Given the description of an element on the screen output the (x, y) to click on. 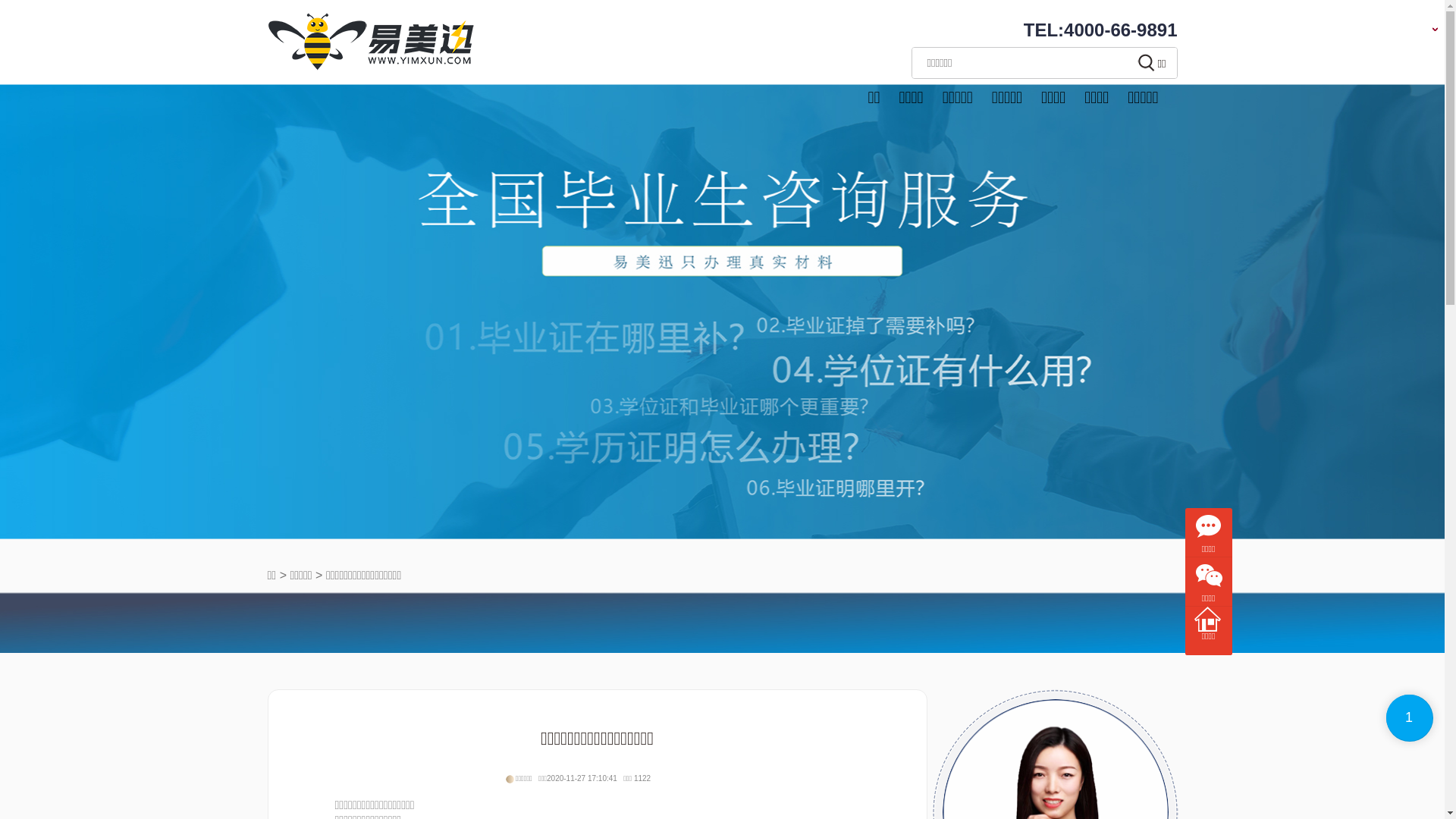
1 Element type: text (1409, 717)
